Given the description of an element on the screen output the (x, y) to click on. 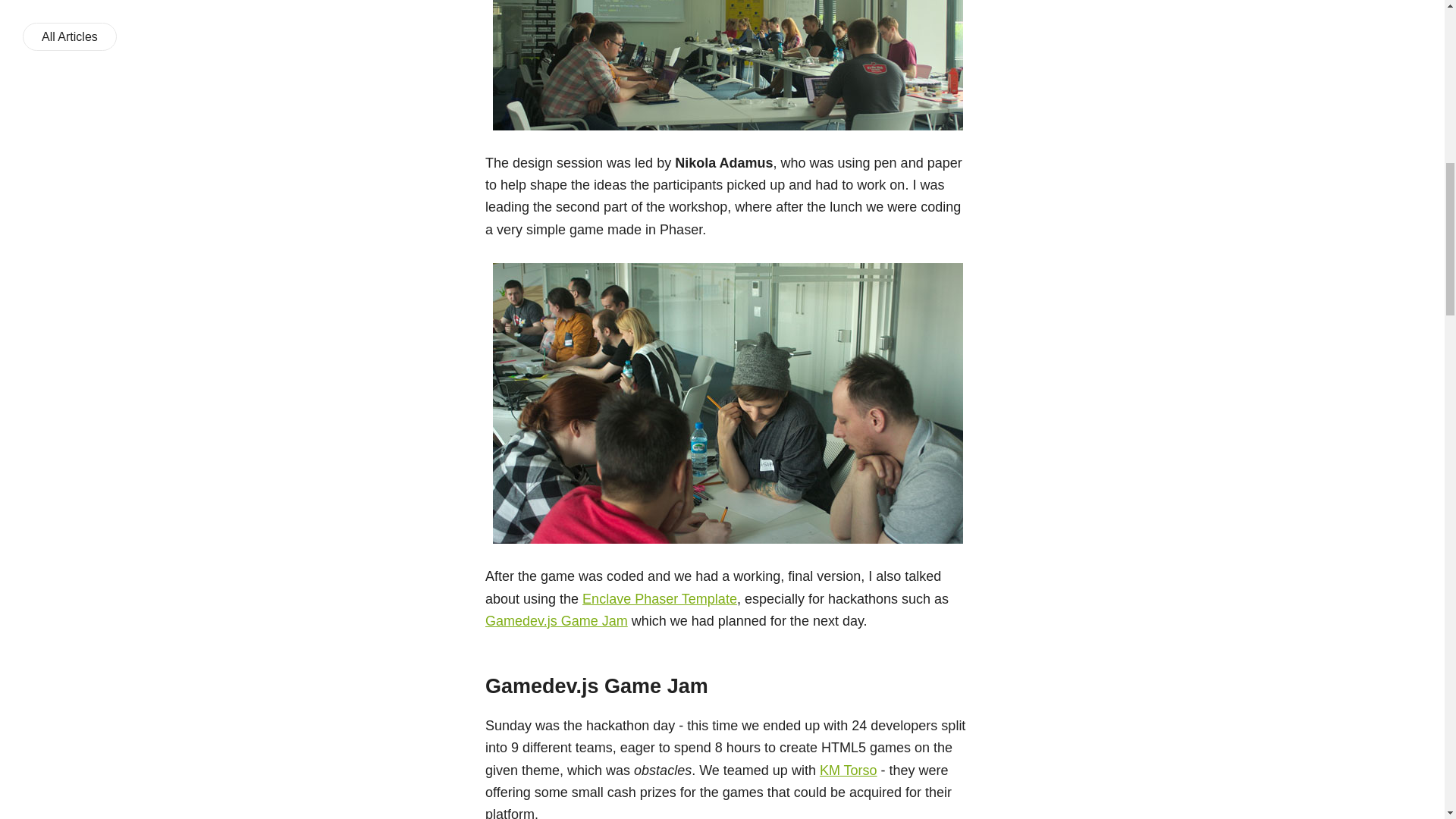
Gamedev.js Game Jam (555, 620)
KM Torso (848, 770)
Enclave Phaser Template (659, 598)
